Given the description of an element on the screen output the (x, y) to click on. 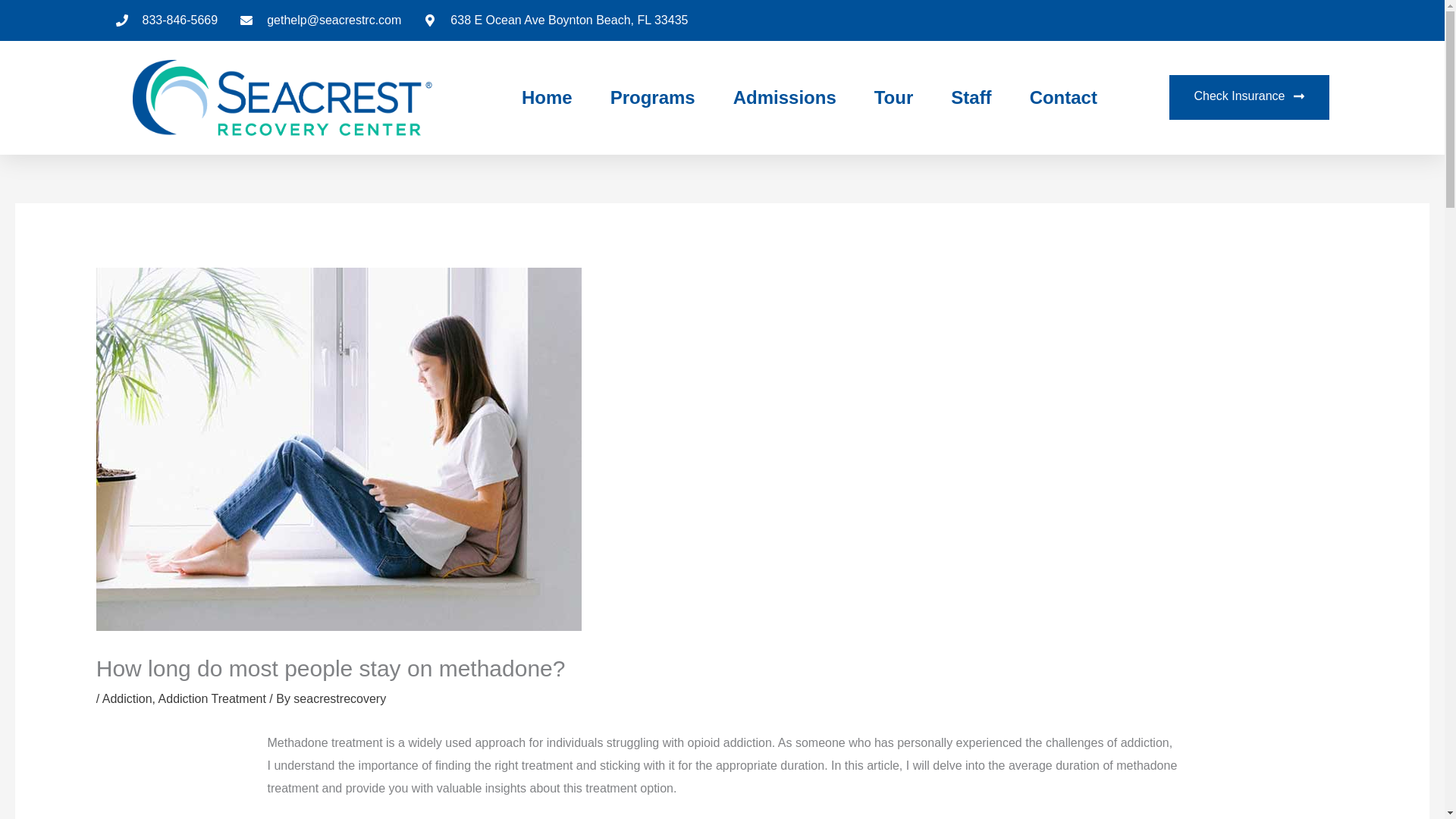
Admissions (784, 97)
833-846-5669 (165, 20)
Check Insurance (1248, 97)
Contact (1063, 97)
Staff (970, 97)
View all posts by seacrestrecovery (339, 698)
Home (546, 97)
Programs (652, 97)
Tour (894, 97)
